Given the description of an element on the screen output the (x, y) to click on. 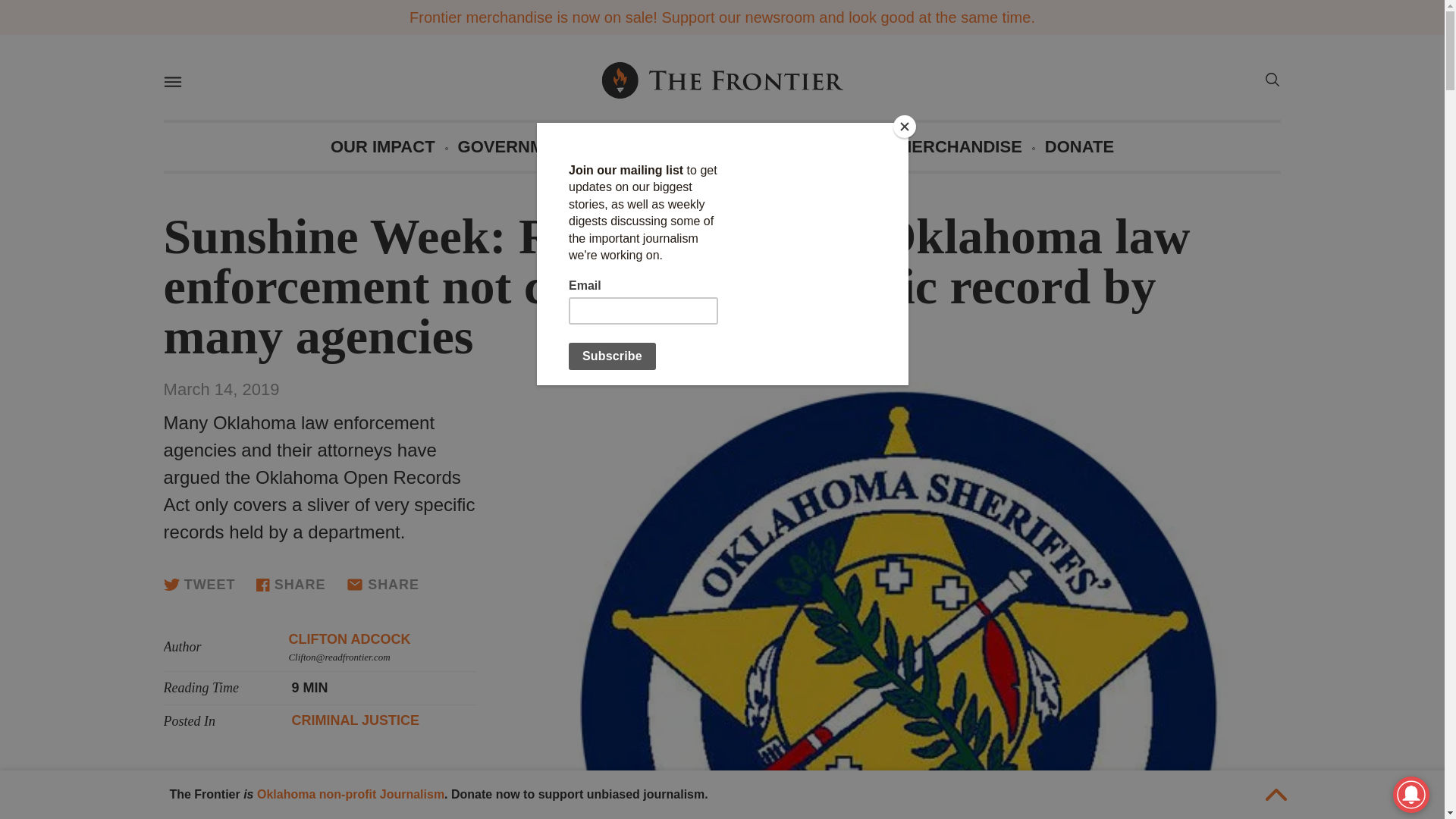
DONATE (1079, 146)
SHARE (382, 584)
OUR IMPACT (382, 146)
CLIFTON ADCOCK (349, 639)
SEARCH-OUTLINE (1271, 79)
PODCASTS (739, 146)
MERCHANDISE (960, 146)
JUSTICE (634, 146)
SEARCH-OUTLINE (1271, 82)
TWEET (199, 584)
menu-outline (171, 81)
SHARE (290, 584)
HEALTH (841, 146)
GOVERNMENT (518, 146)
